Given the description of an element on the screen output the (x, y) to click on. 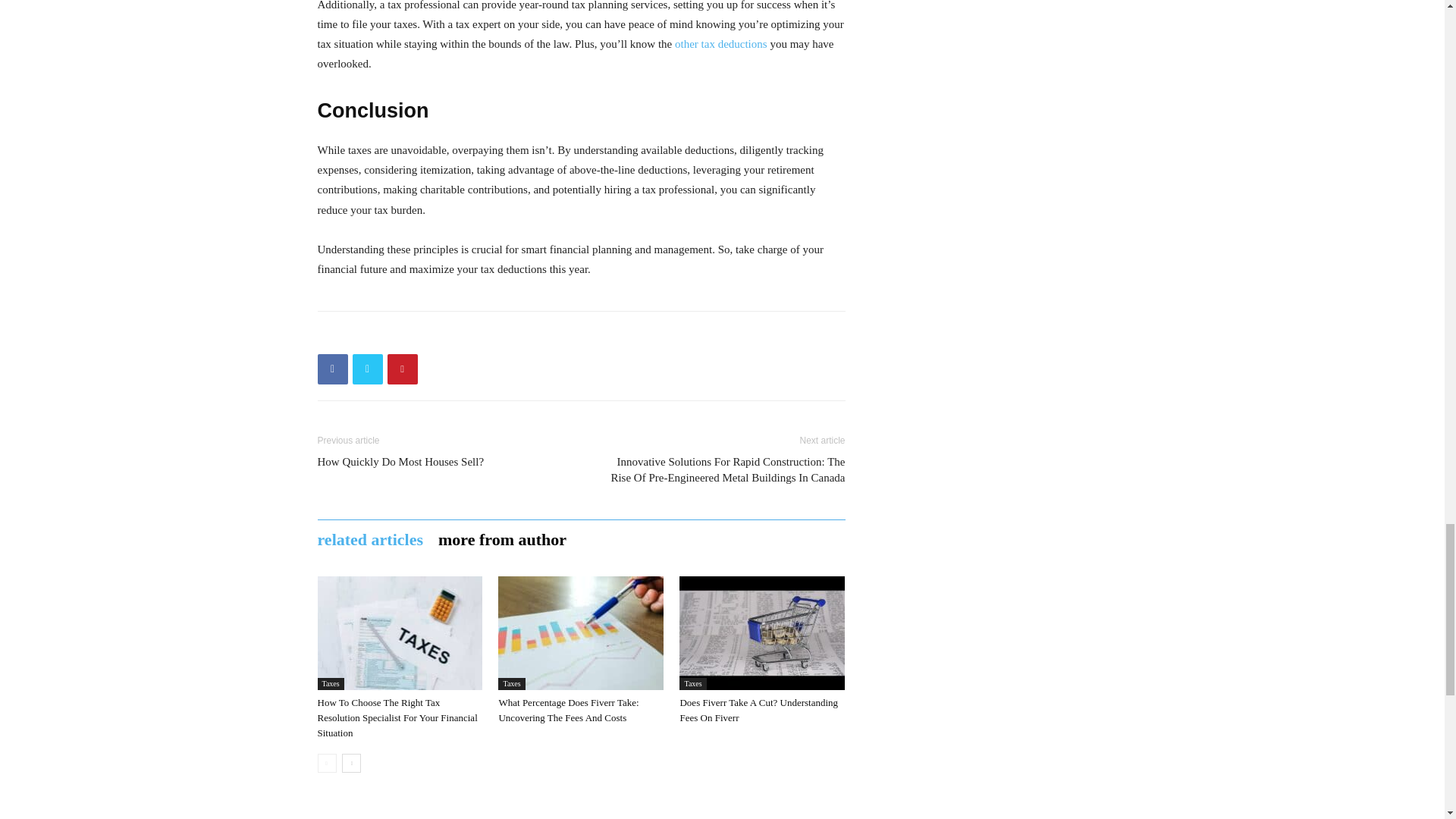
Pinterest (401, 368)
Twitter (366, 368)
Facebook (332, 368)
bottomFacebookLike (430, 335)
